Given the description of an element on the screen output the (x, y) to click on. 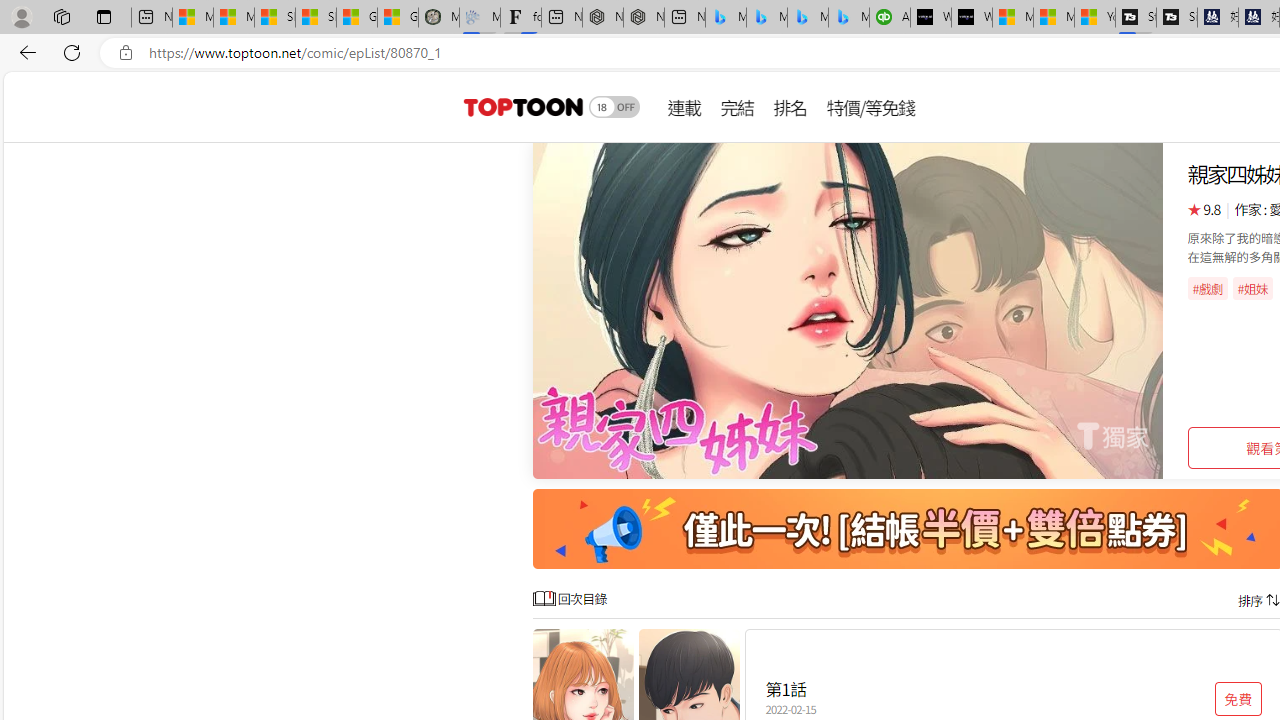
What's the best AI voice generator? - voice.ai (971, 17)
Microsoft Start Sports (1012, 17)
Accounting Software for Accountants, CPAs and Bookkeepers (890, 17)
Class:  switch_18mode actionAdultBtn (614, 106)
Class: swiper-slide (847, 310)
Gilma and Hector both pose tropical trouble for Hawaii (397, 17)
Nordace - #1 Japanese Best-Seller - Siena Smart Backpack (643, 17)
Microsoft Bing Travel - Stays in Bangkok, Bangkok, Thailand (767, 17)
